Given the description of an element on the screen output the (x, y) to click on. 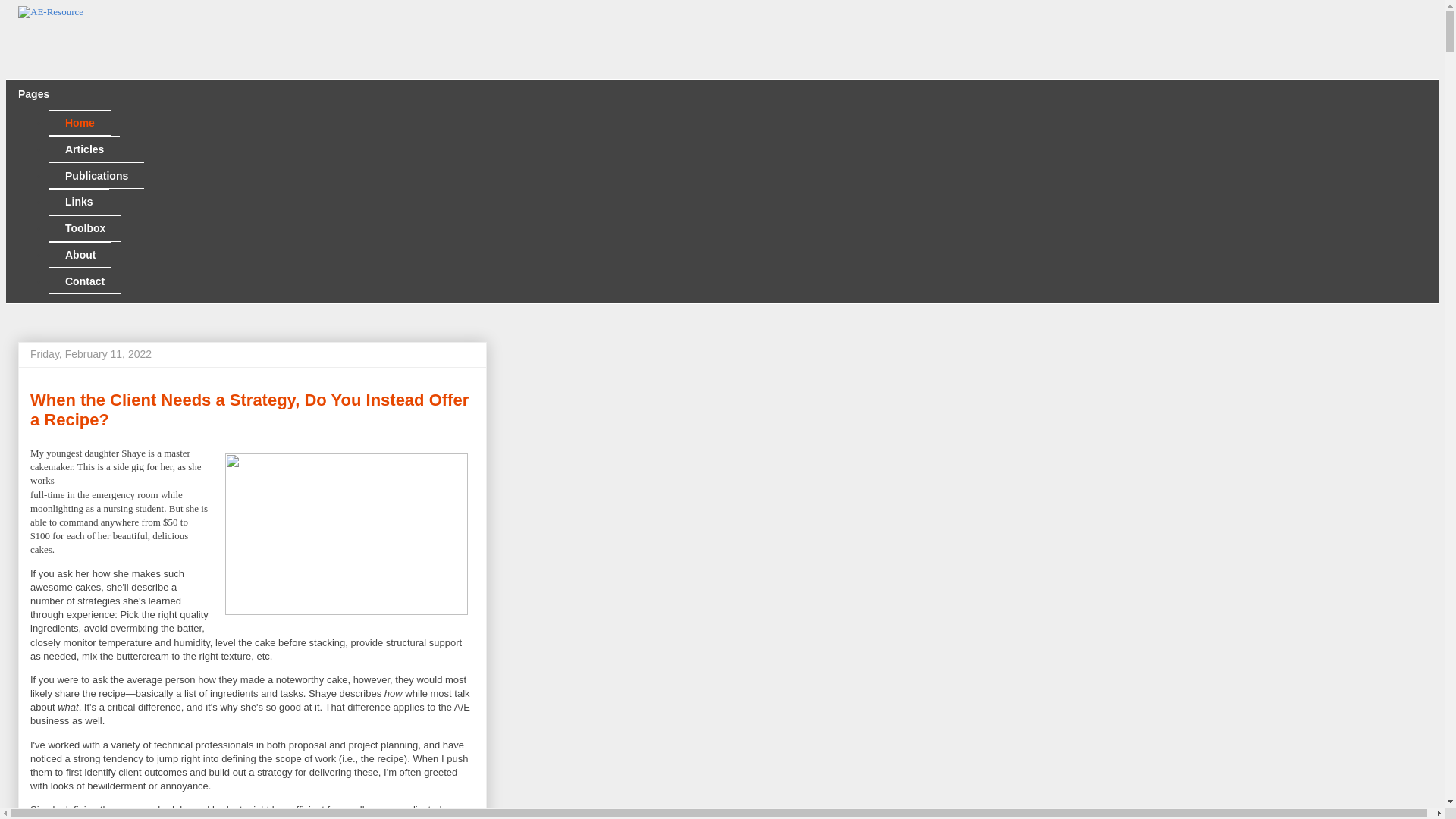
Publications (96, 175)
Contact (84, 280)
Articles (83, 148)
About (80, 254)
Toolbox (84, 228)
Home (79, 122)
Links (78, 202)
